Given the description of an element on the screen output the (x, y) to click on. 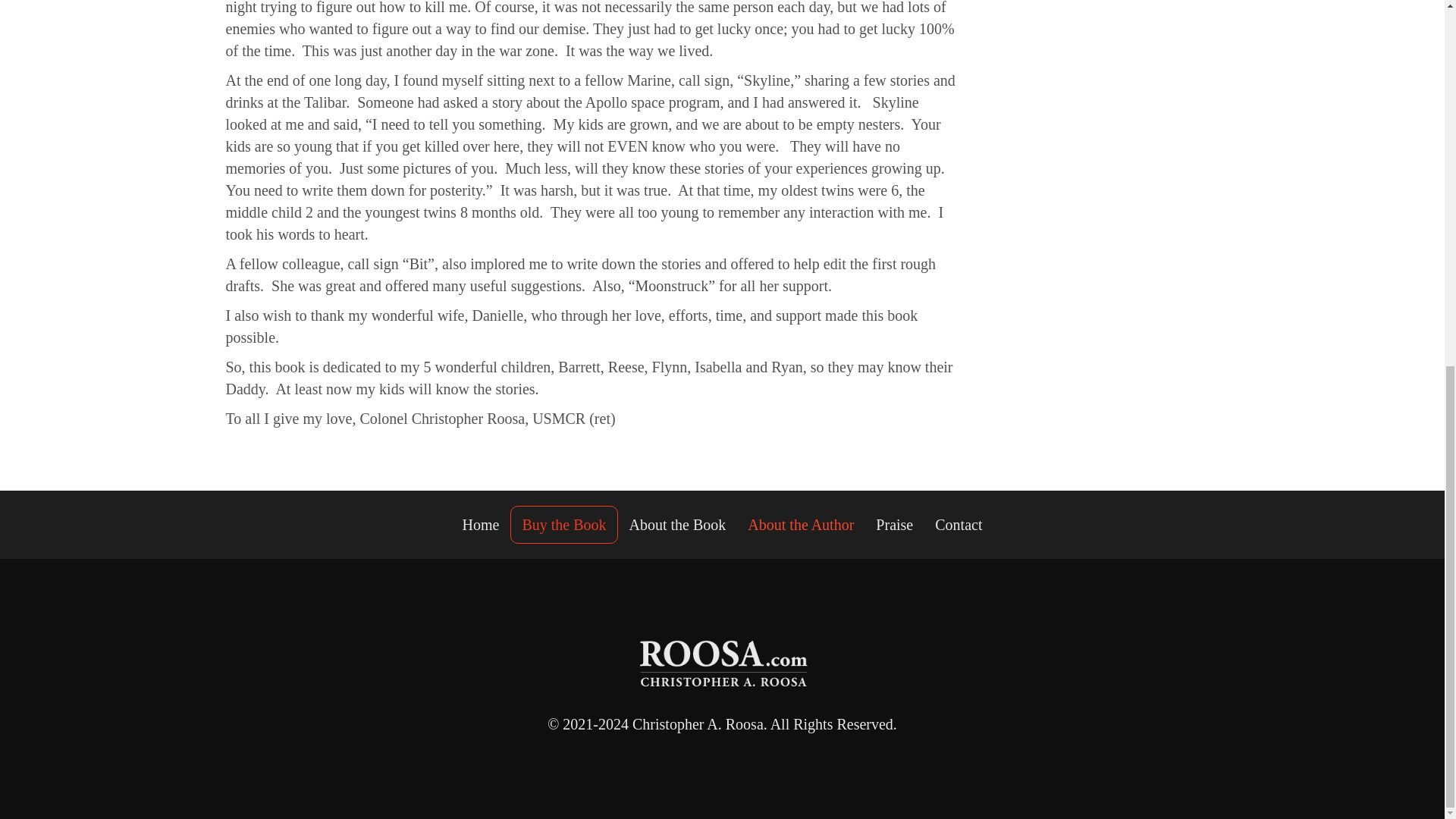
About the Author (800, 524)
Buy the Book (564, 524)
Praise (893, 524)
About the Book (677, 524)
roosa-logo-black-white (721, 662)
Contact (958, 524)
Home (481, 524)
